Given the description of an element on the screen output the (x, y) to click on. 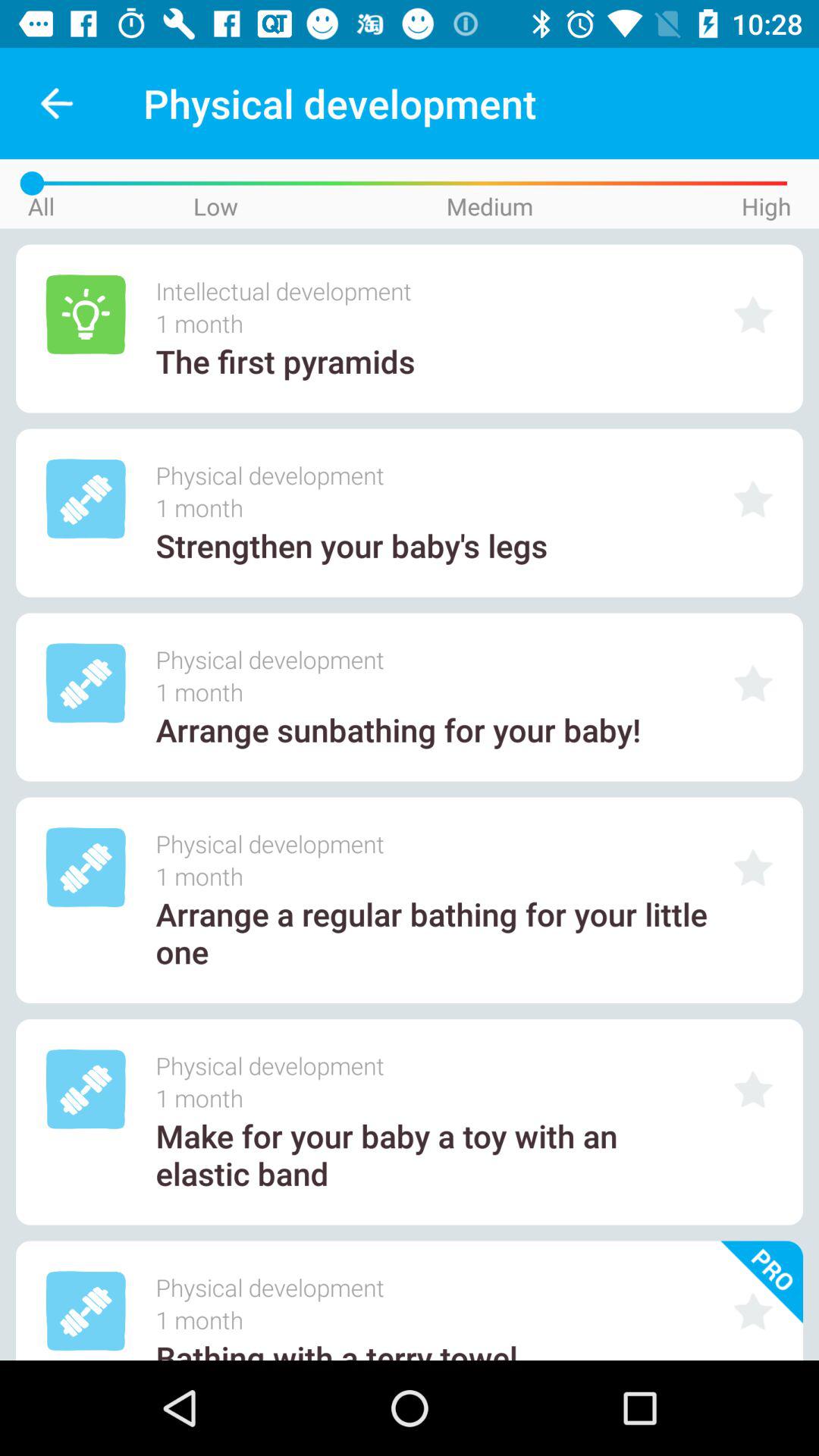
set to high priority (753, 1089)
